Given the description of an element on the screen output the (x, y) to click on. 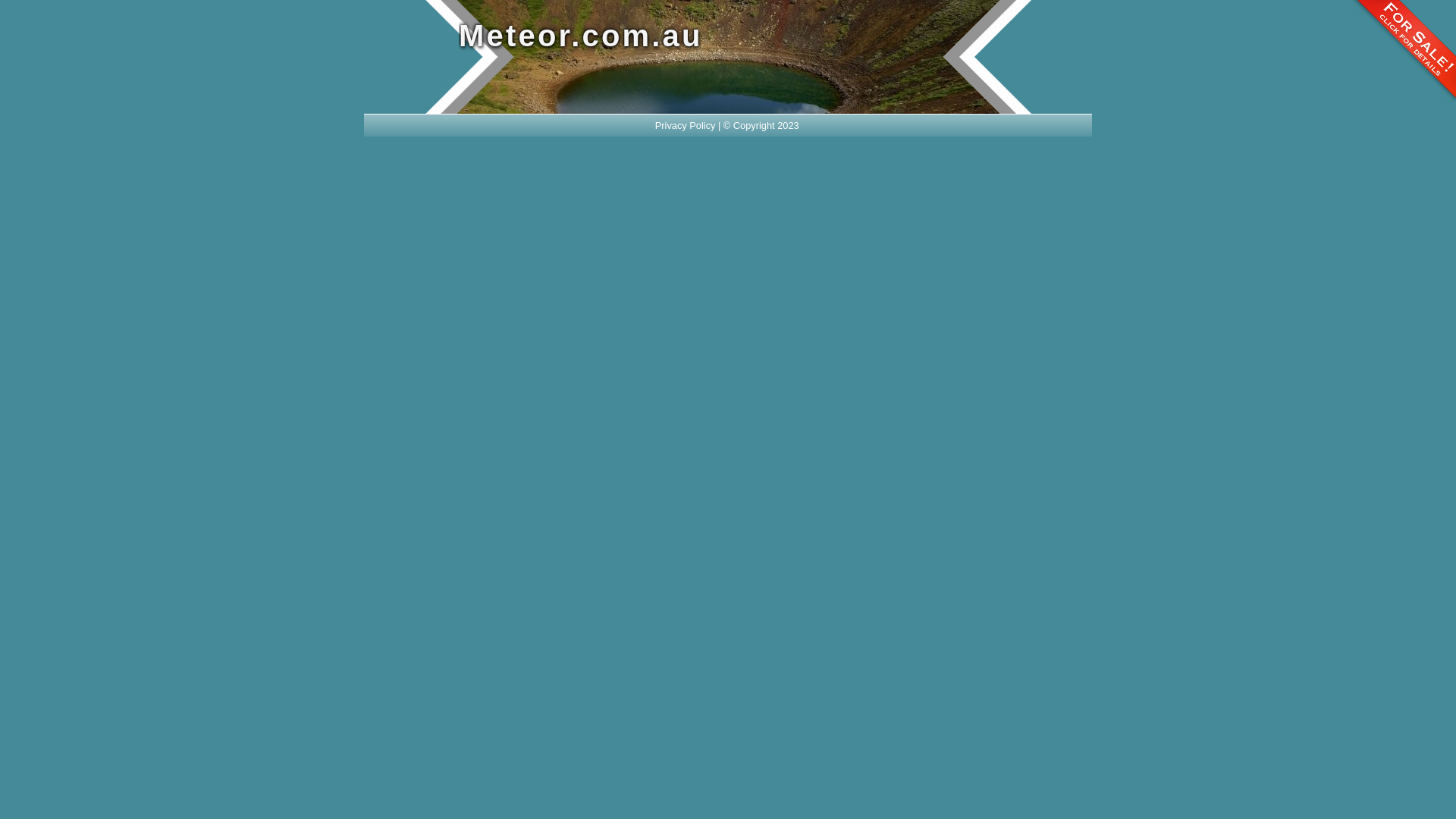
Meteor.com.au Element type: text (674, 35)
Privacy Policy Element type: text (685, 125)
